Given the description of an element on the screen output the (x, y) to click on. 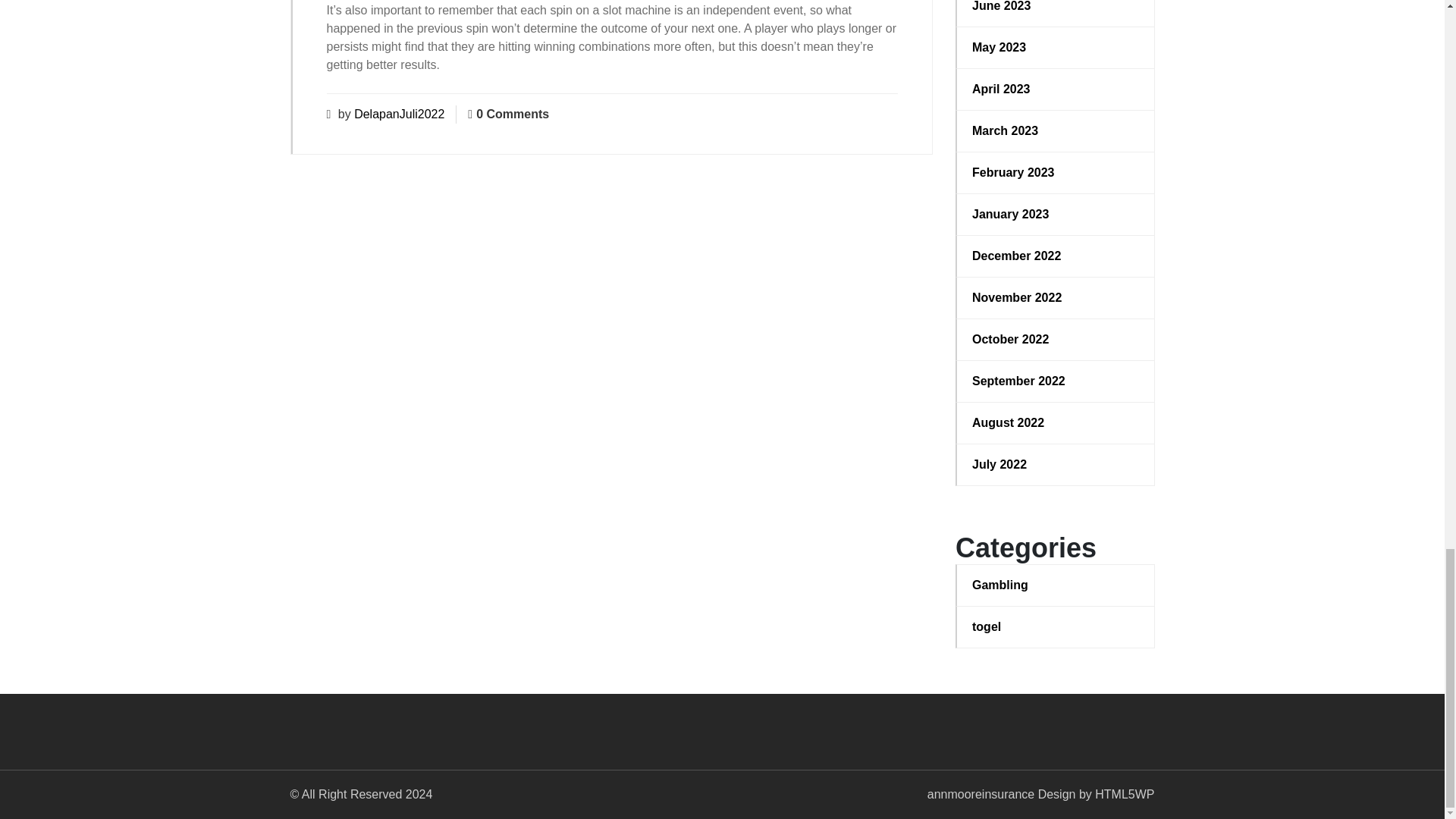
DelapanJuli2022 (398, 113)
May 2023 (1055, 47)
January 2023 (1055, 214)
June 2023 (1055, 7)
April 2023 (1055, 89)
February 2023 (1055, 172)
December 2022 (1055, 256)
March 2023 (1055, 131)
